Given the description of an element on the screen output the (x, y) to click on. 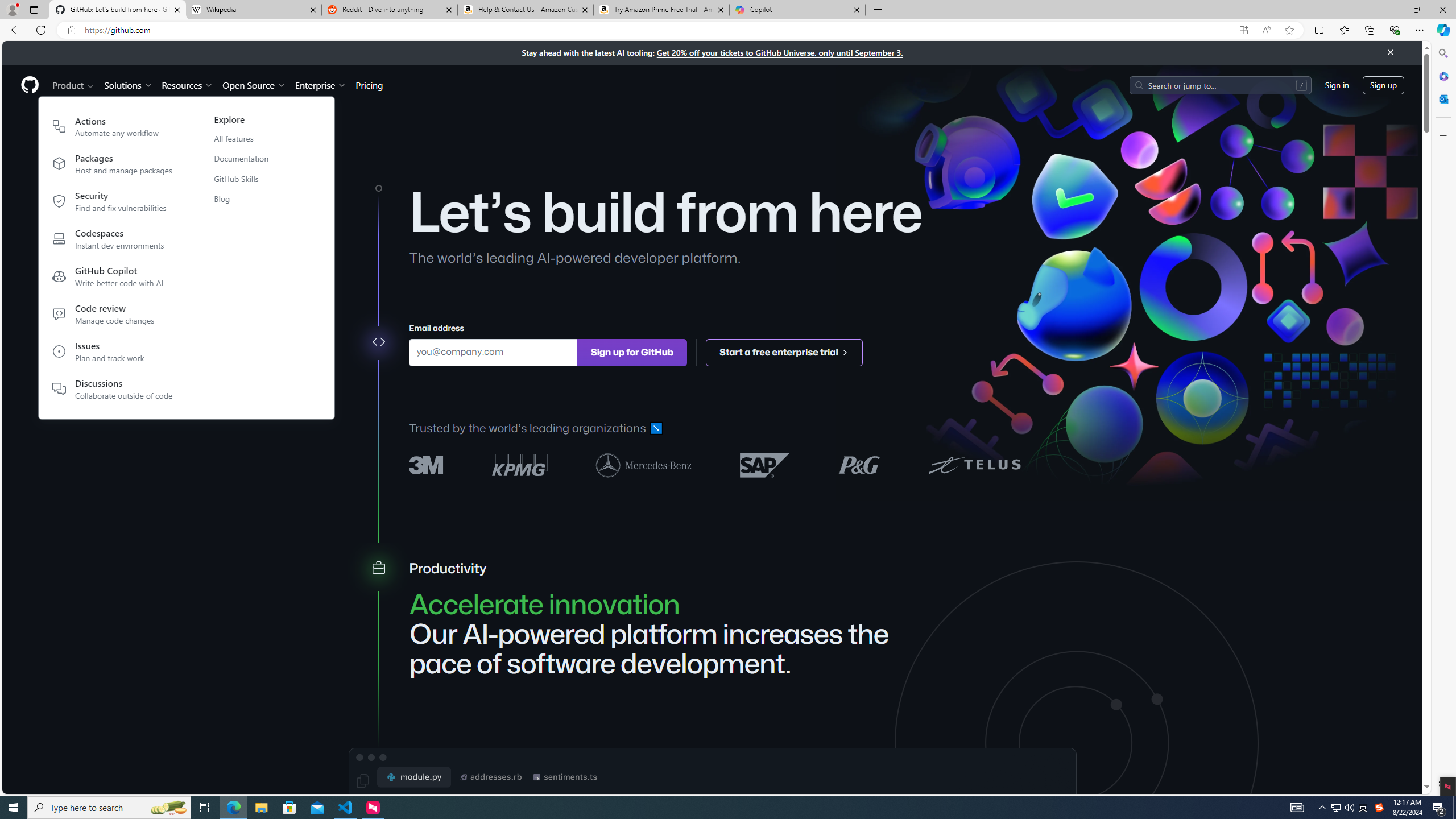
SAP logo (764, 464)
Issues Plan and track work (112, 353)
Sign up for GitHub (631, 352)
Resources (187, 84)
GitHub Copilot Write better code with AI (112, 278)
Open Source (254, 84)
Documentation (248, 158)
Enterprise (319, 84)
Try Amazon Prime Free Trial - Amazon Customer Service (660, 9)
Solutions (128, 84)
